Given the description of an element on the screen output the (x, y) to click on. 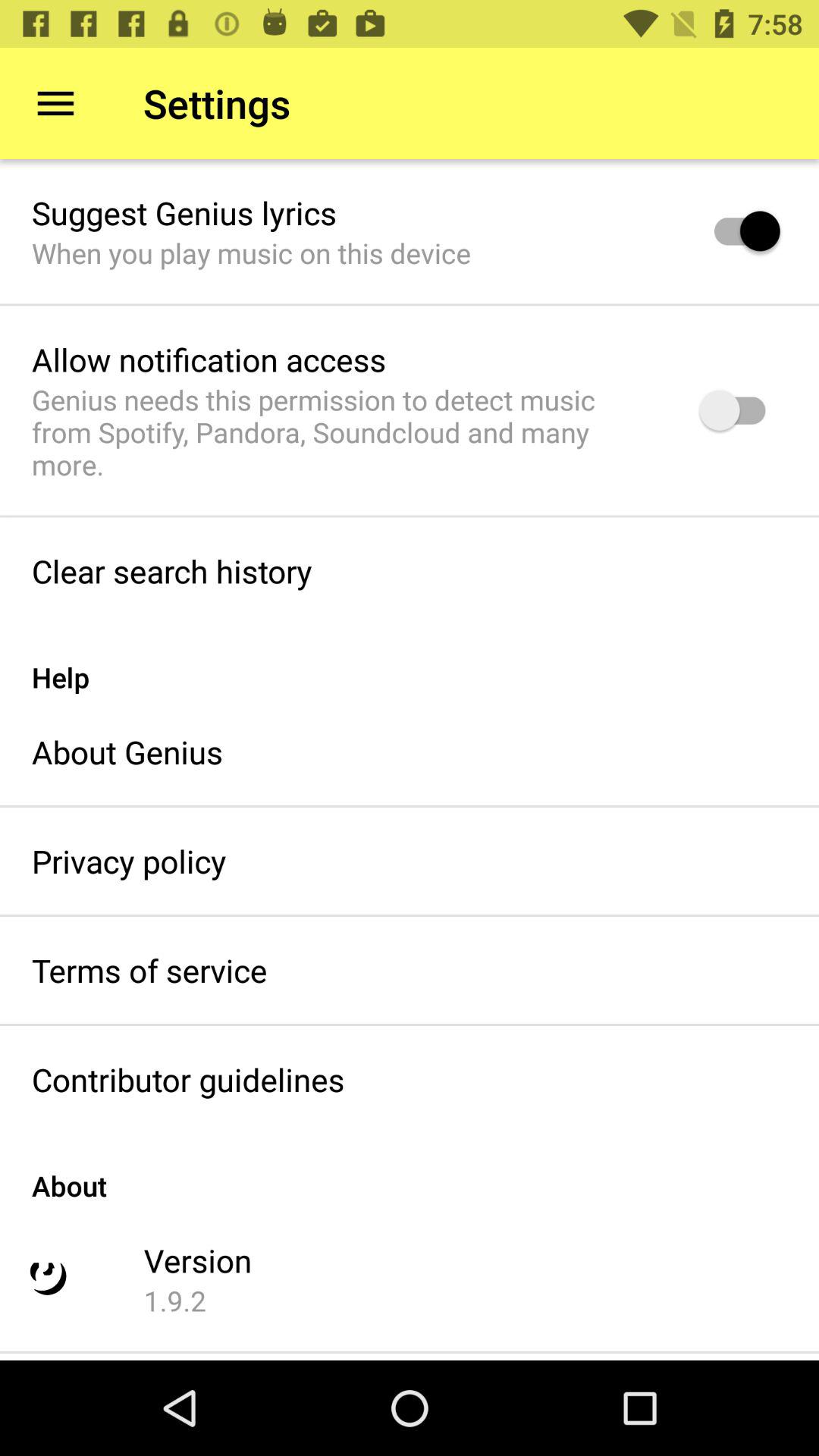
jump until help (409, 661)
